Given the description of an element on the screen output the (x, y) to click on. 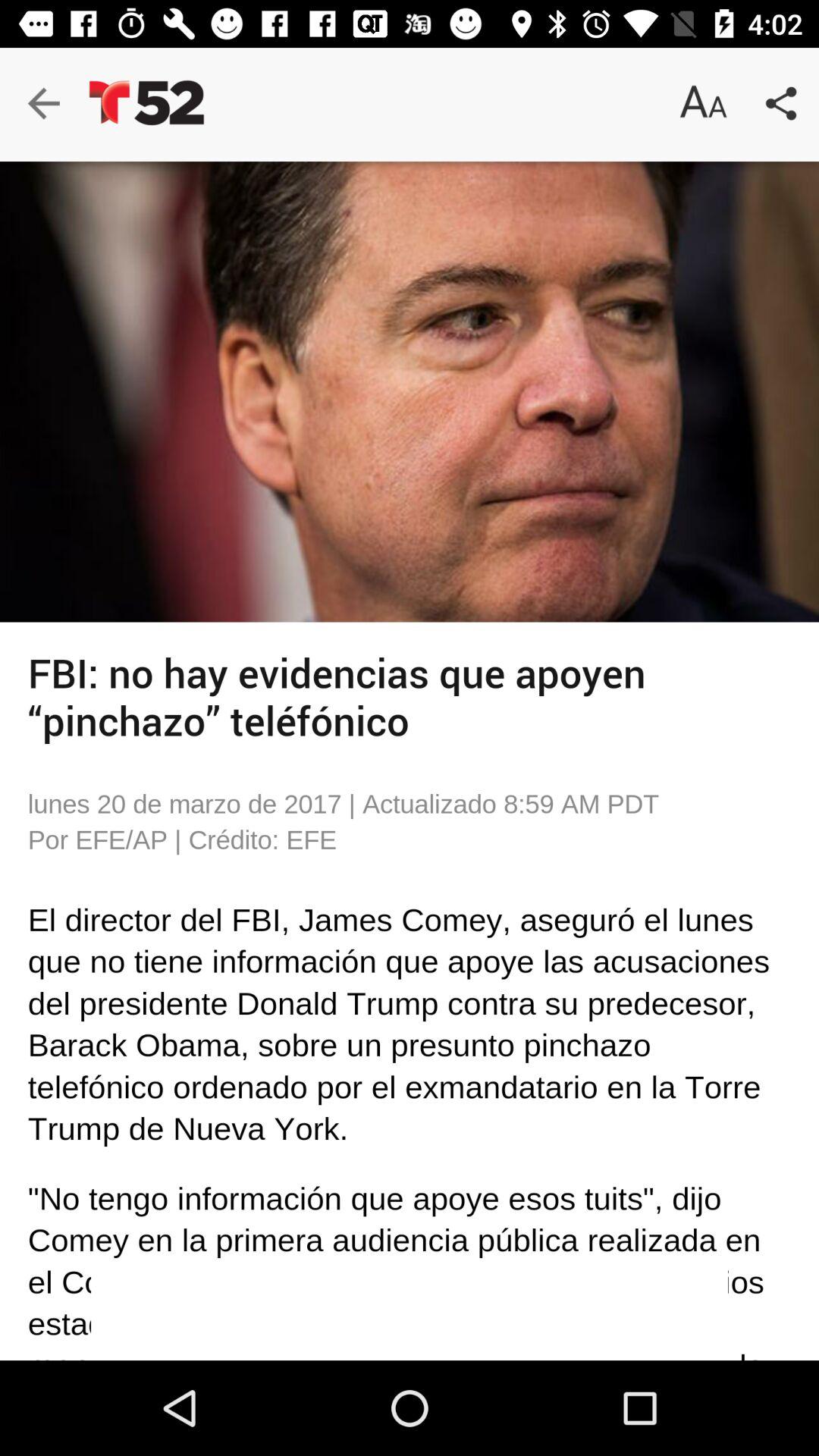
open the image (409, 391)
